Given the description of an element on the screen output the (x, y) to click on. 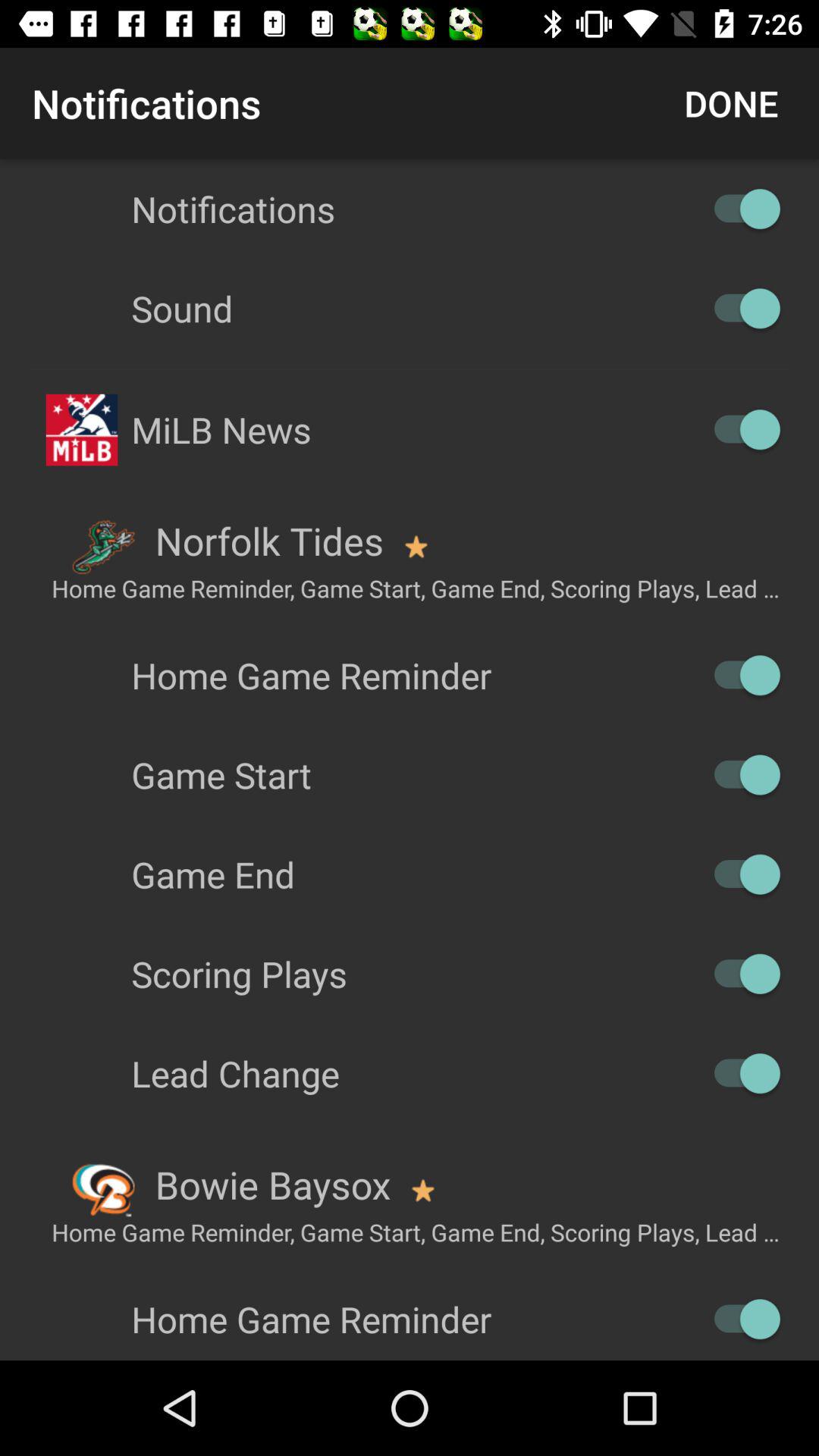
trun on milb news notification (739, 429)
